Given the description of an element on the screen output the (x, y) to click on. 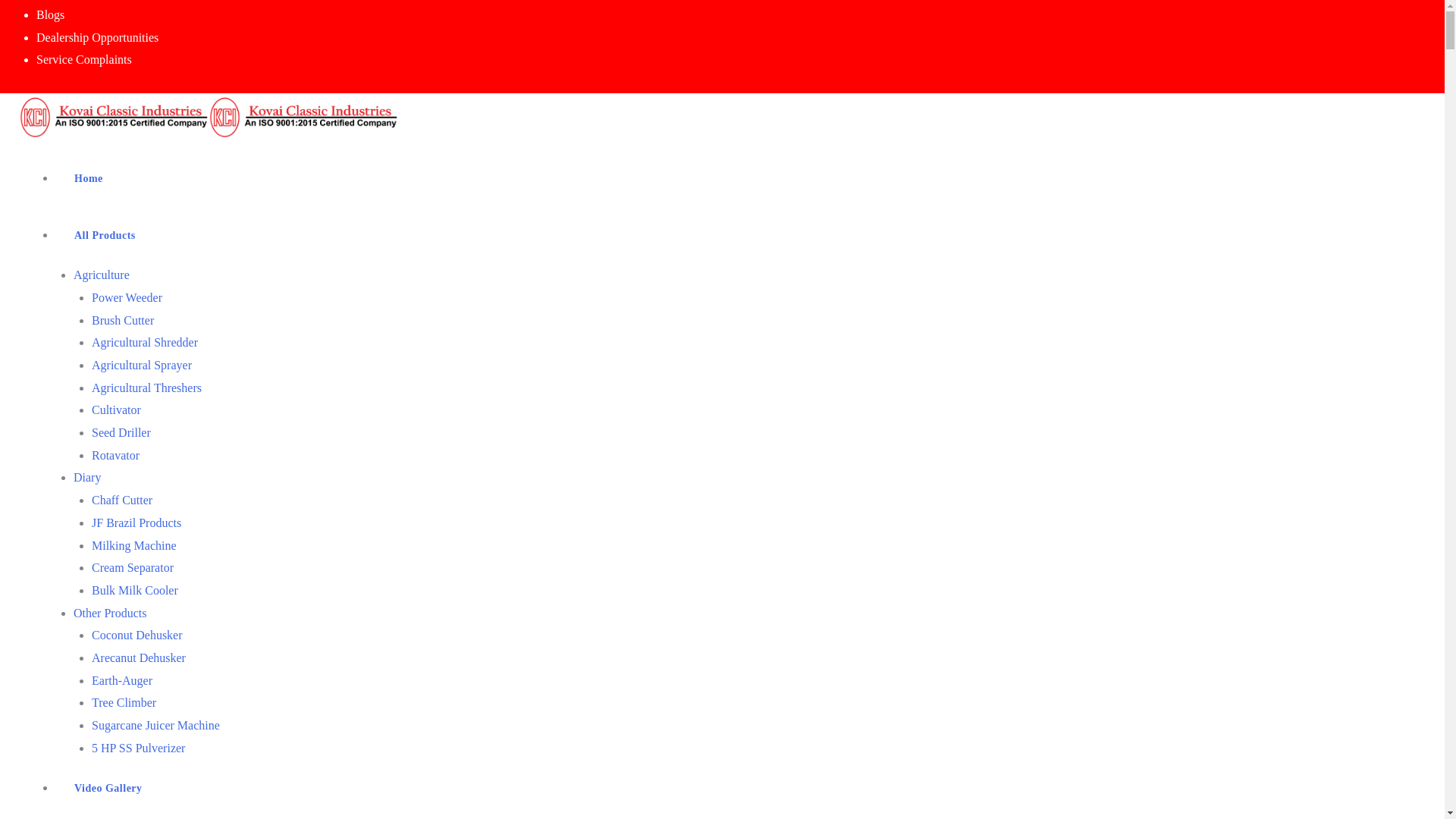
5 HP SS Pulverizer (137, 748)
Sugarcane Juicer Machine (155, 725)
Chaff Cutter (121, 499)
Agricultural Sprayer (141, 364)
Dealership Opportunities (97, 37)
Agriculture (101, 274)
Rotavator (115, 454)
Milking Machine (133, 545)
Bulk Milk Cooler (134, 590)
Power Weeder (126, 297)
Cream Separator (132, 567)
Agricultural Threshers (146, 387)
Brush Cutter (122, 319)
Earth-Auger (121, 680)
Agricultural Shredder (144, 341)
